Given the description of an element on the screen output the (x, y) to click on. 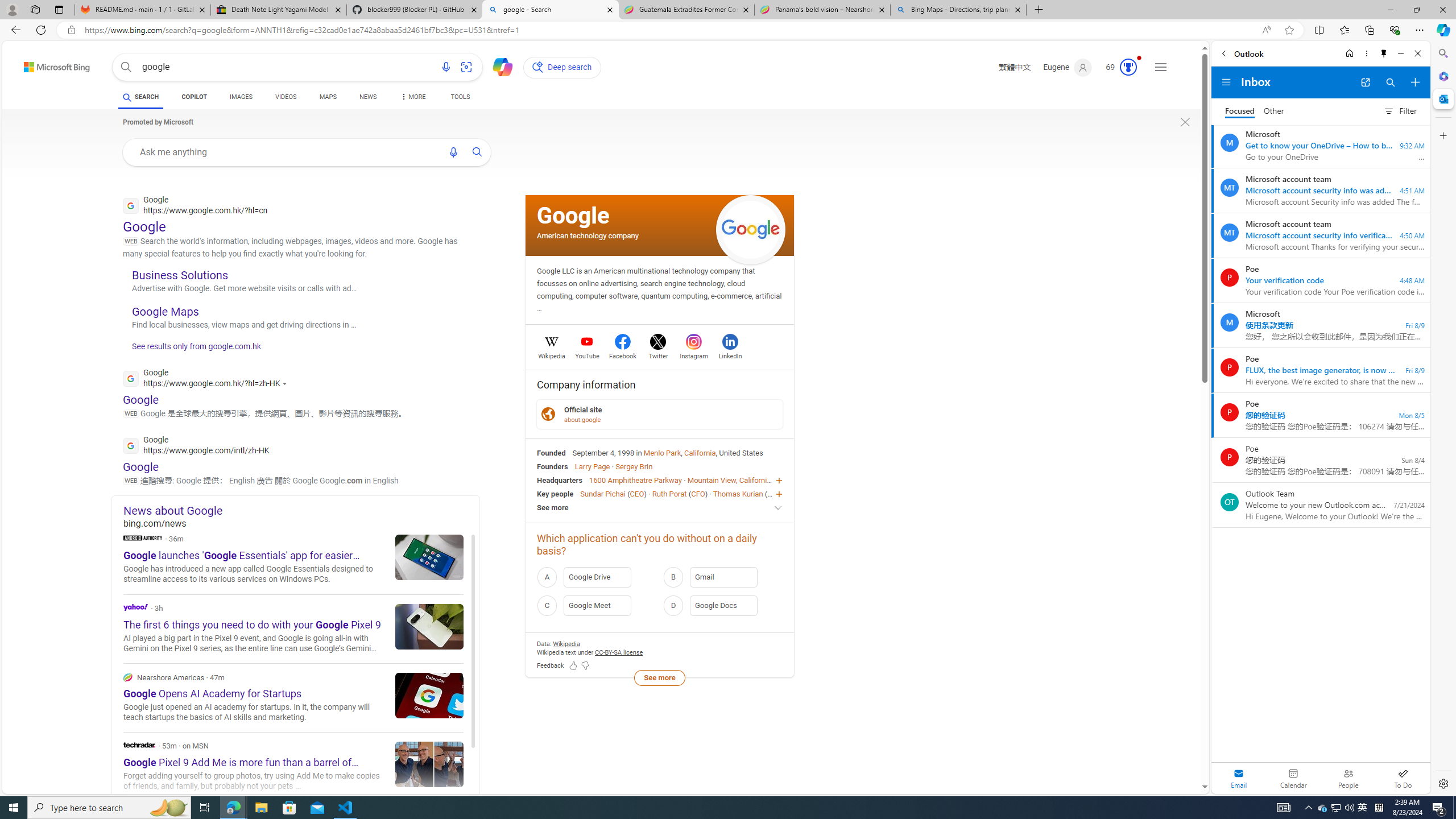
Collections (1369, 29)
Google Opens AI Academy for Startups (428, 695)
Nearshore Americas (293, 697)
Search using an image (465, 66)
IMAGES (241, 96)
Search button (126, 66)
Official Site Official site about.google (659, 413)
VIDEOS (285, 98)
Key people (555, 492)
TOOLS (460, 96)
MAPS (327, 96)
Favorites (1344, 29)
